Given the description of an element on the screen output the (x, y) to click on. 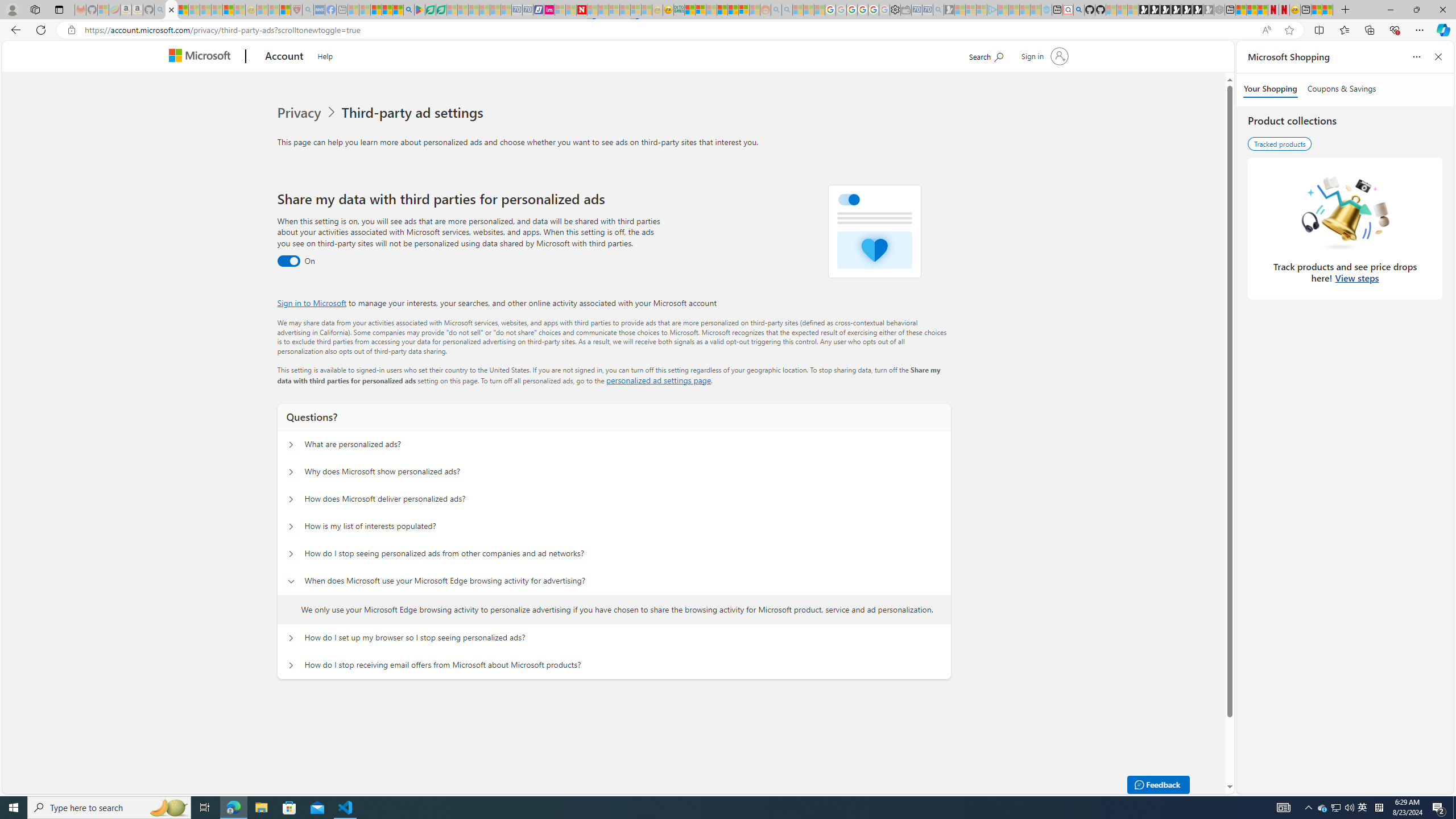
Questions? How is my list of interests populated? (290, 526)
github - Search (1078, 9)
